Given the description of an element on the screen output the (x, y) to click on. 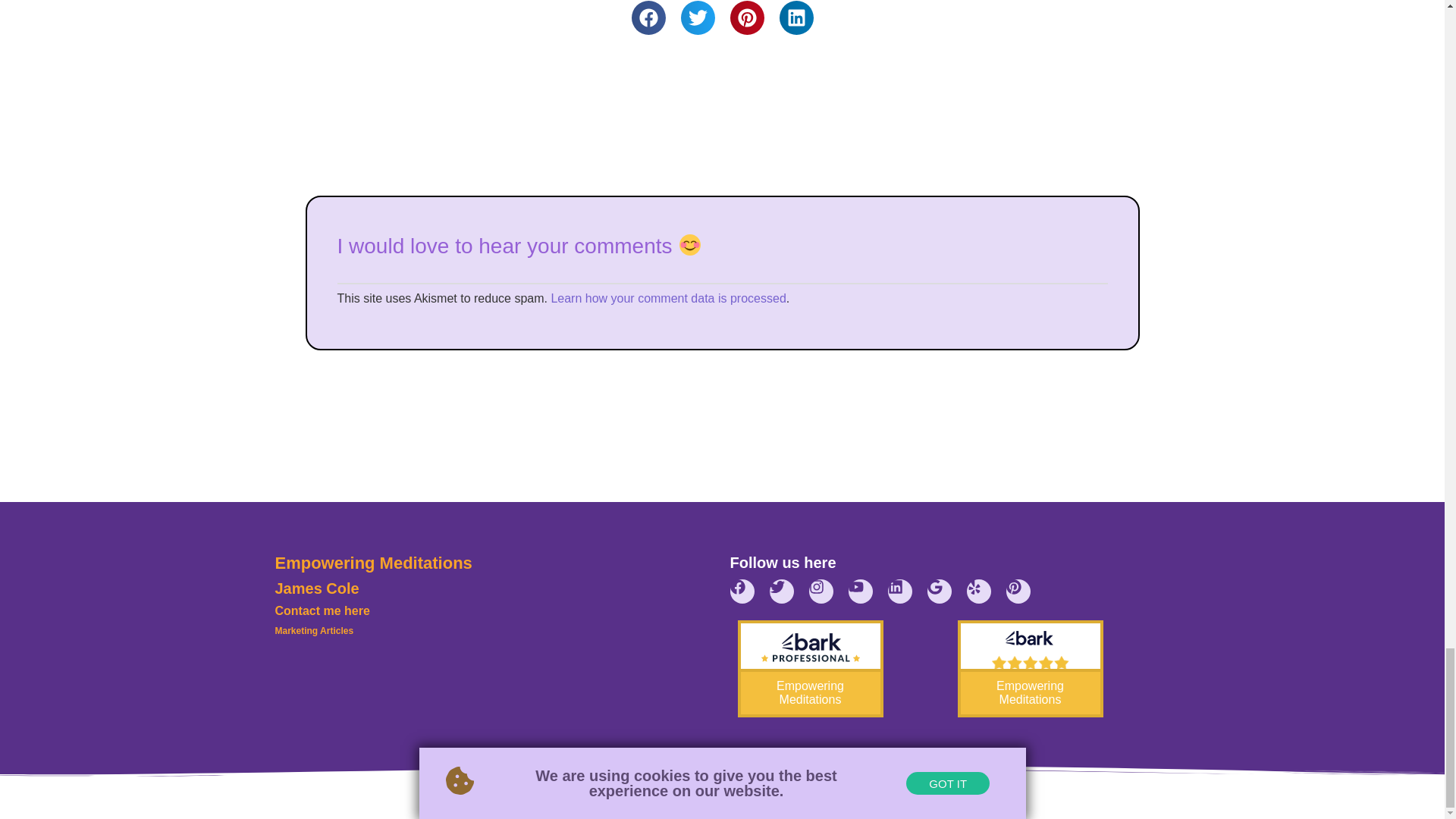
Empowering Meditations has 3 reviews on Bark.com (1029, 668)
